Given the description of an element on the screen output the (x, y) to click on. 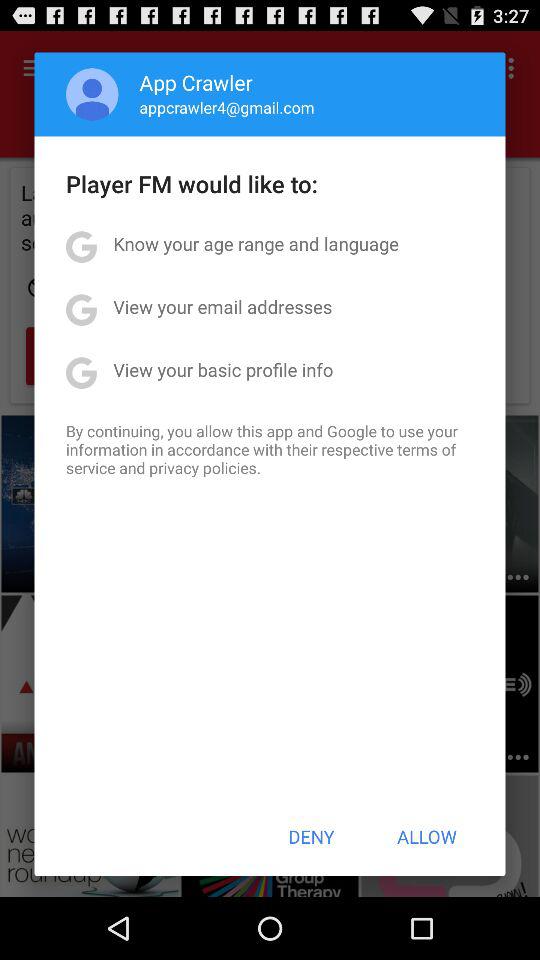
open item above the view your email icon (255, 243)
